Given the description of an element on the screen output the (x, y) to click on. 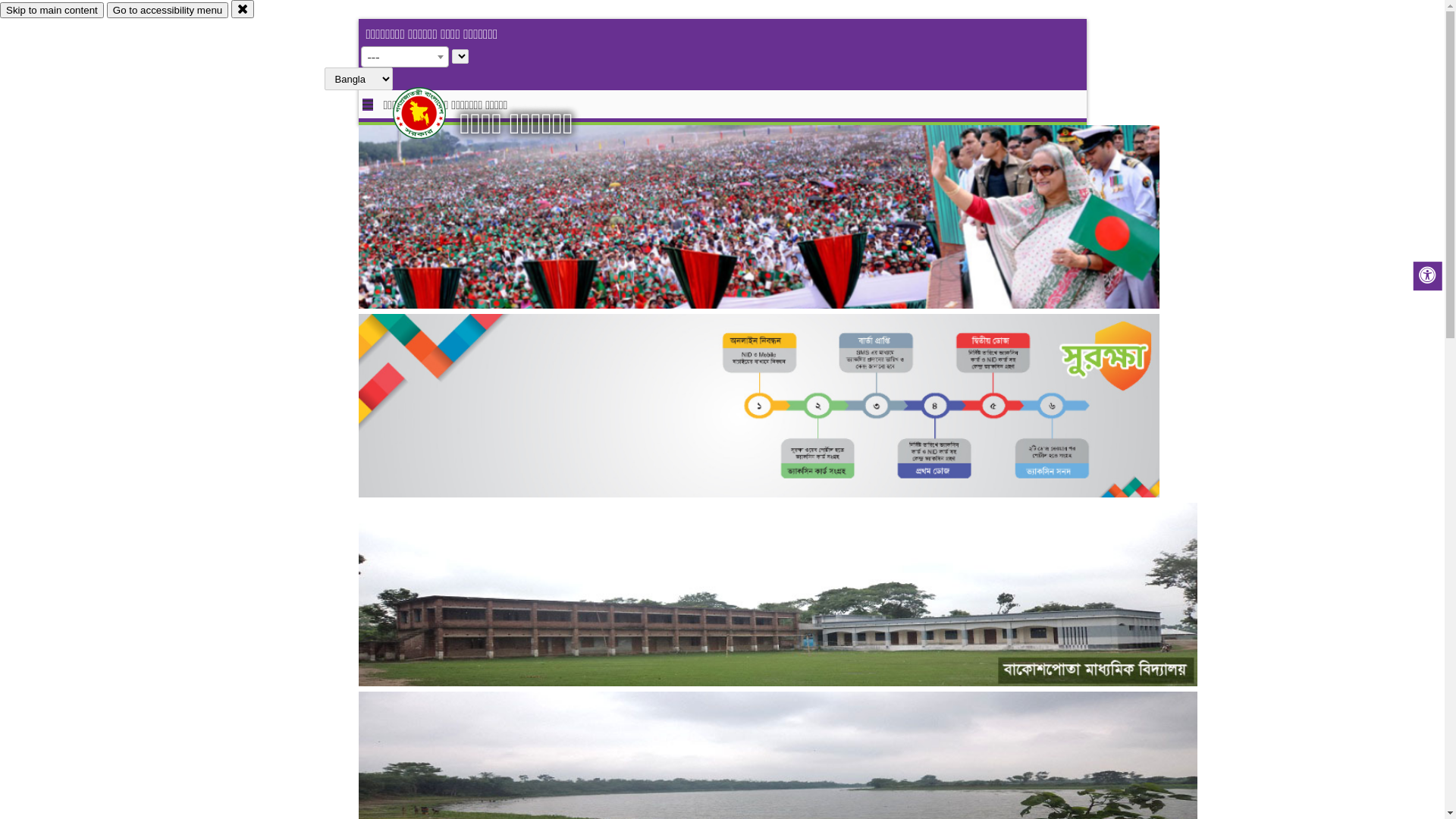
close Element type: hover (242, 9)

                
             Element type: hover (431, 112)
Go to accessibility menu Element type: text (167, 10)
Skip to main content Element type: text (51, 10)
